Given the description of an element on the screen output the (x, y) to click on. 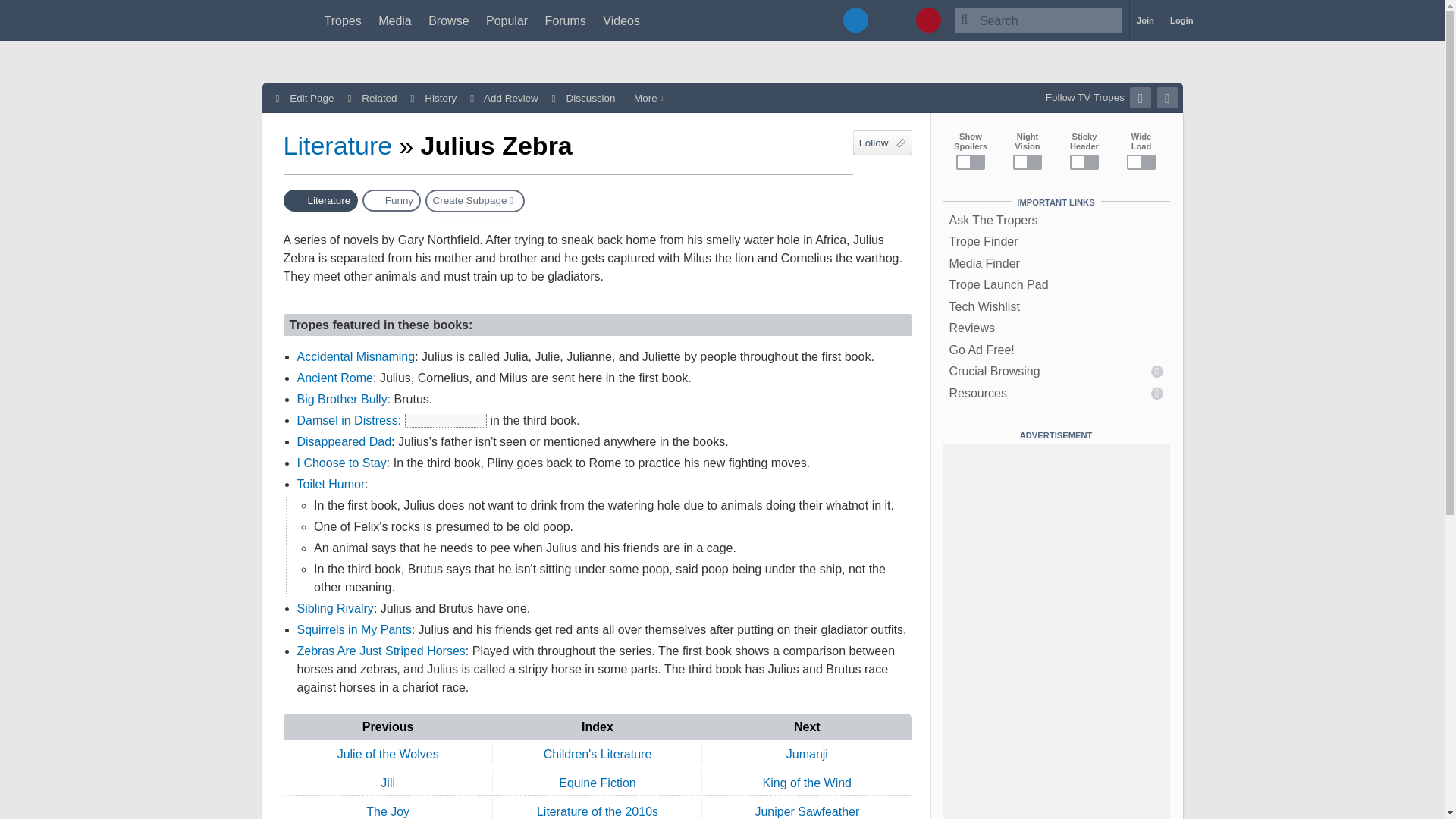
Media (395, 20)
Forums (565, 20)
Videos (621, 20)
Login (1181, 20)
The Funny page (391, 200)
The Literature page (320, 200)
Browse (448, 20)
Popular (506, 20)
you can set spoilers visible by default on your profile (445, 420)
Tropes (342, 20)
